Given the description of an element on the screen output the (x, y) to click on. 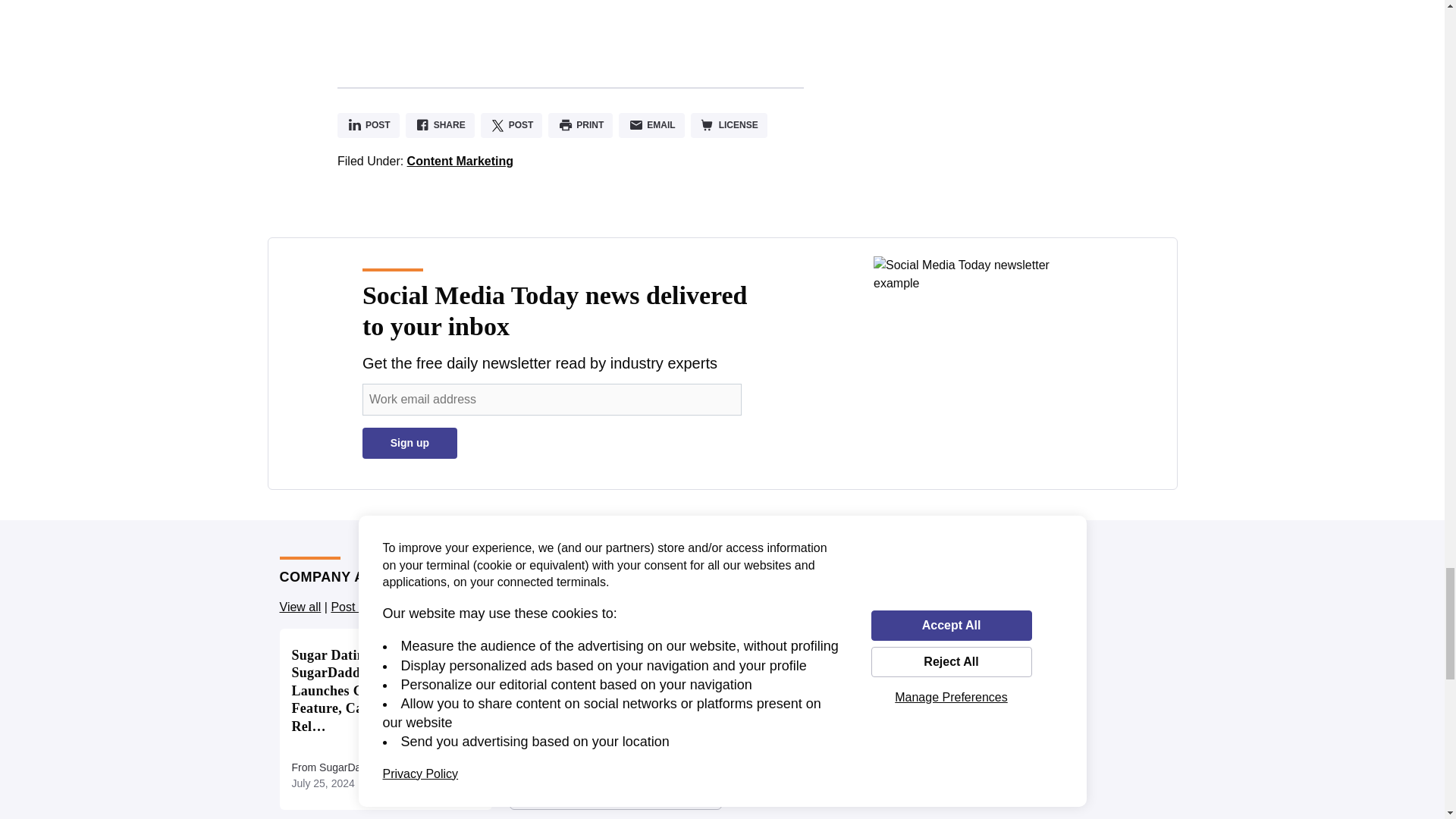
SHARE (440, 125)
POST (367, 125)
